Given the description of an element on the screen output the (x, y) to click on. 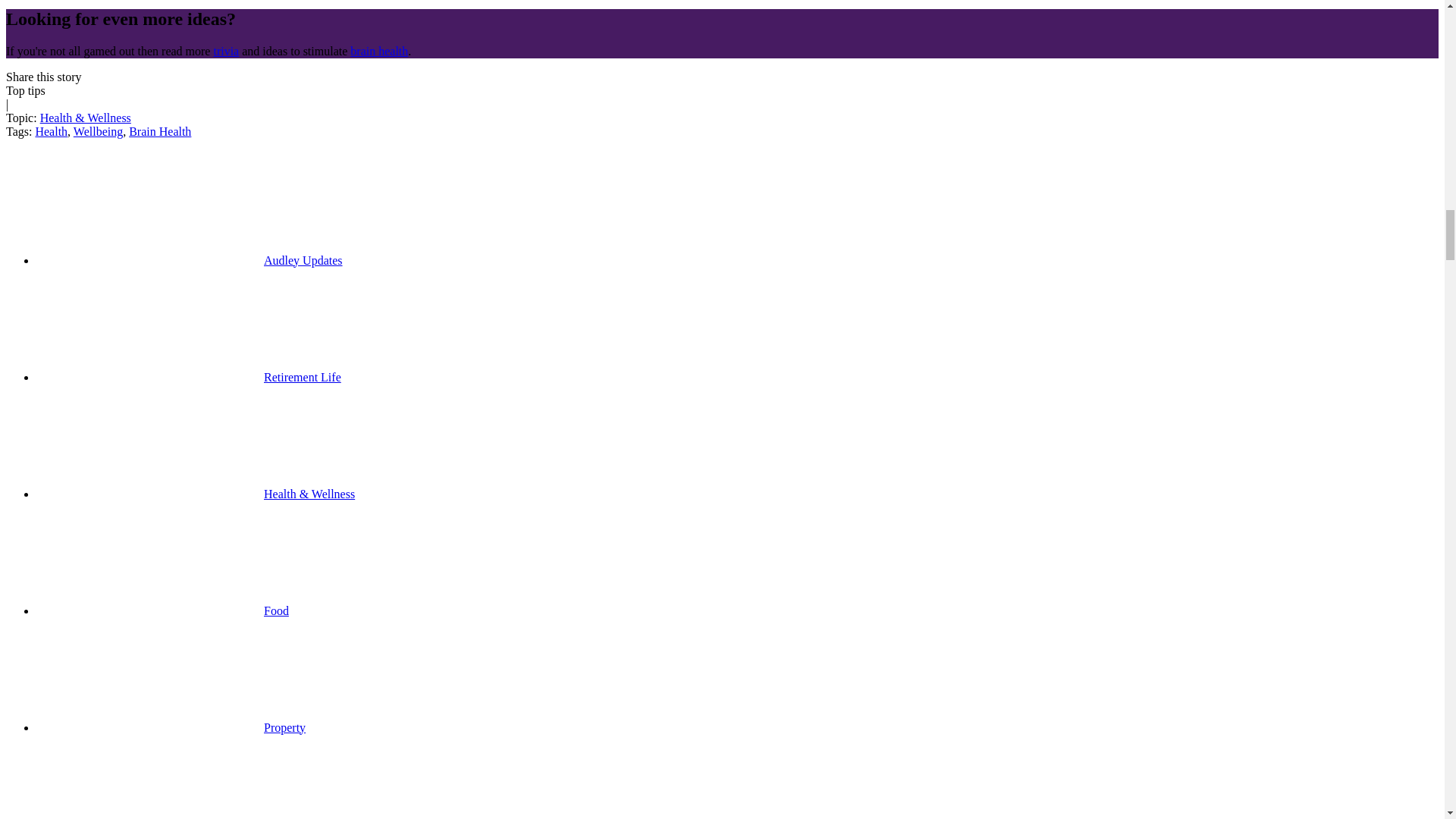
Trivia (225, 51)
